Given the description of an element on the screen output the (x, y) to click on. 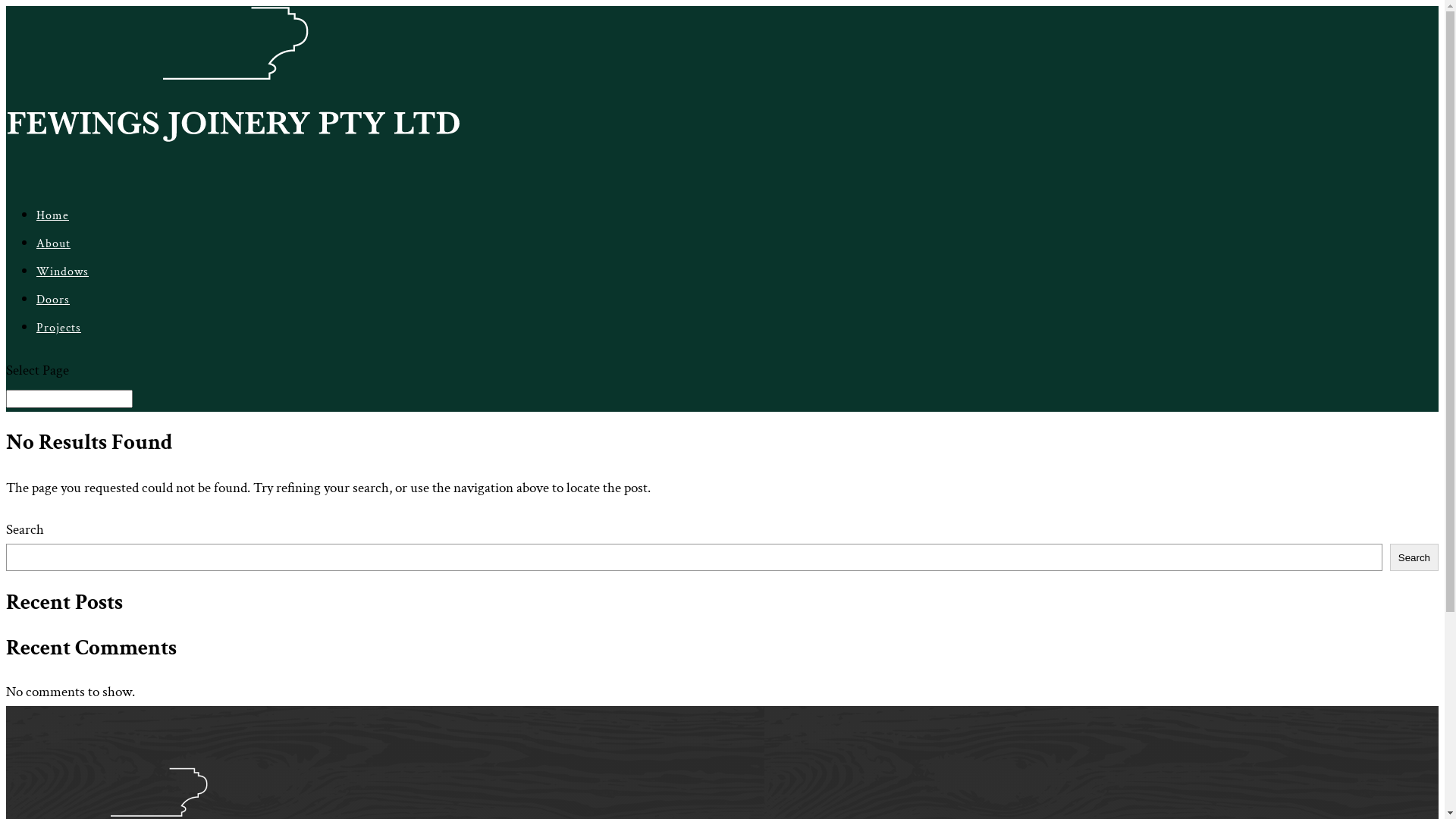
About Element type: text (53, 258)
Projects Element type: text (58, 343)
Search for: Element type: hover (69, 398)
Doors Element type: text (52, 314)
Windows Element type: text (62, 286)
Home Element type: text (52, 230)
Search Element type: text (1414, 557)
